Given the description of an element on the screen output the (x, y) to click on. 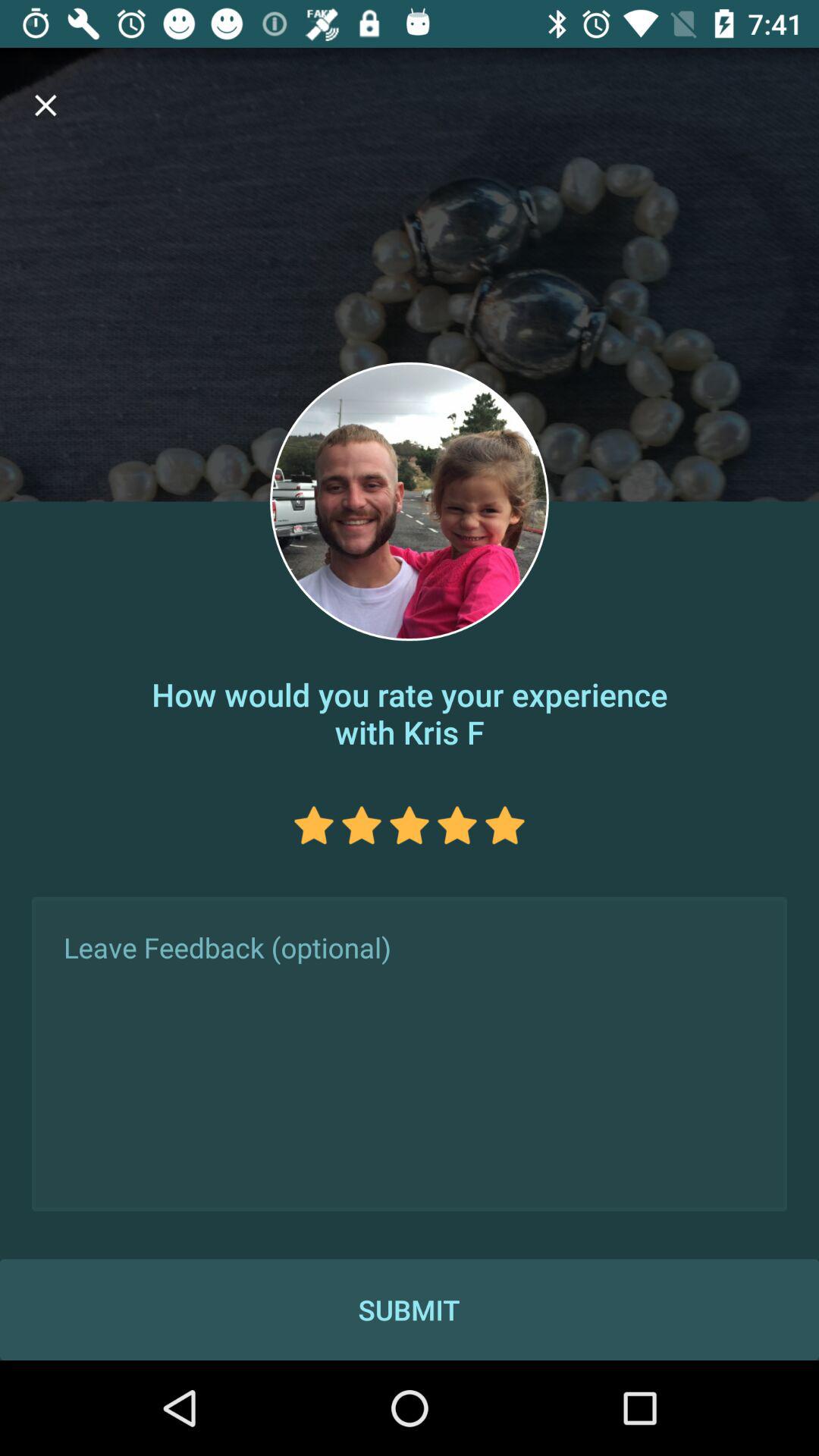
click ratings (361, 825)
